Given the description of an element on the screen output the (x, y) to click on. 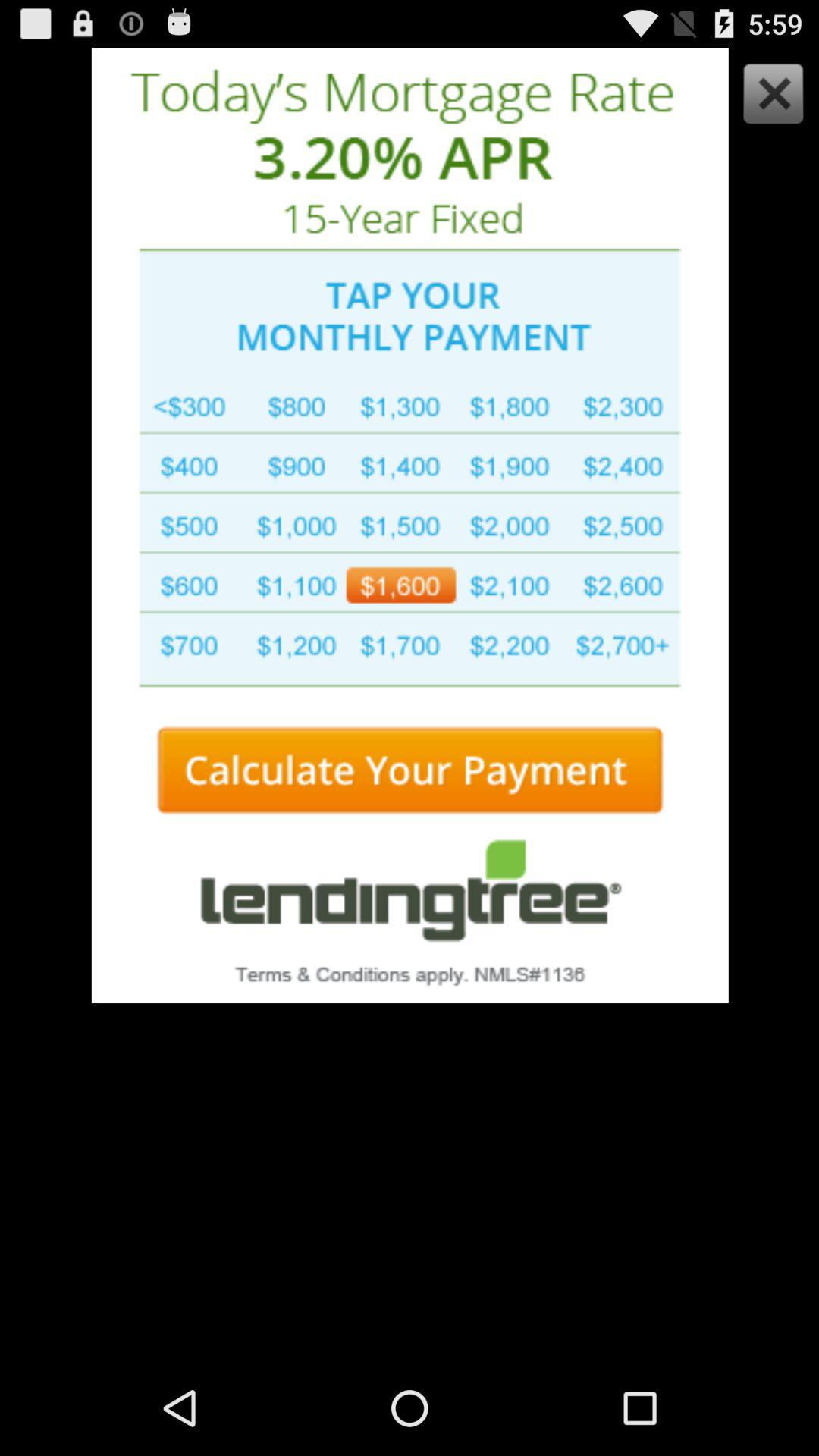
close advertisement (769, 97)
